Given the description of an element on the screen output the (x, y) to click on. 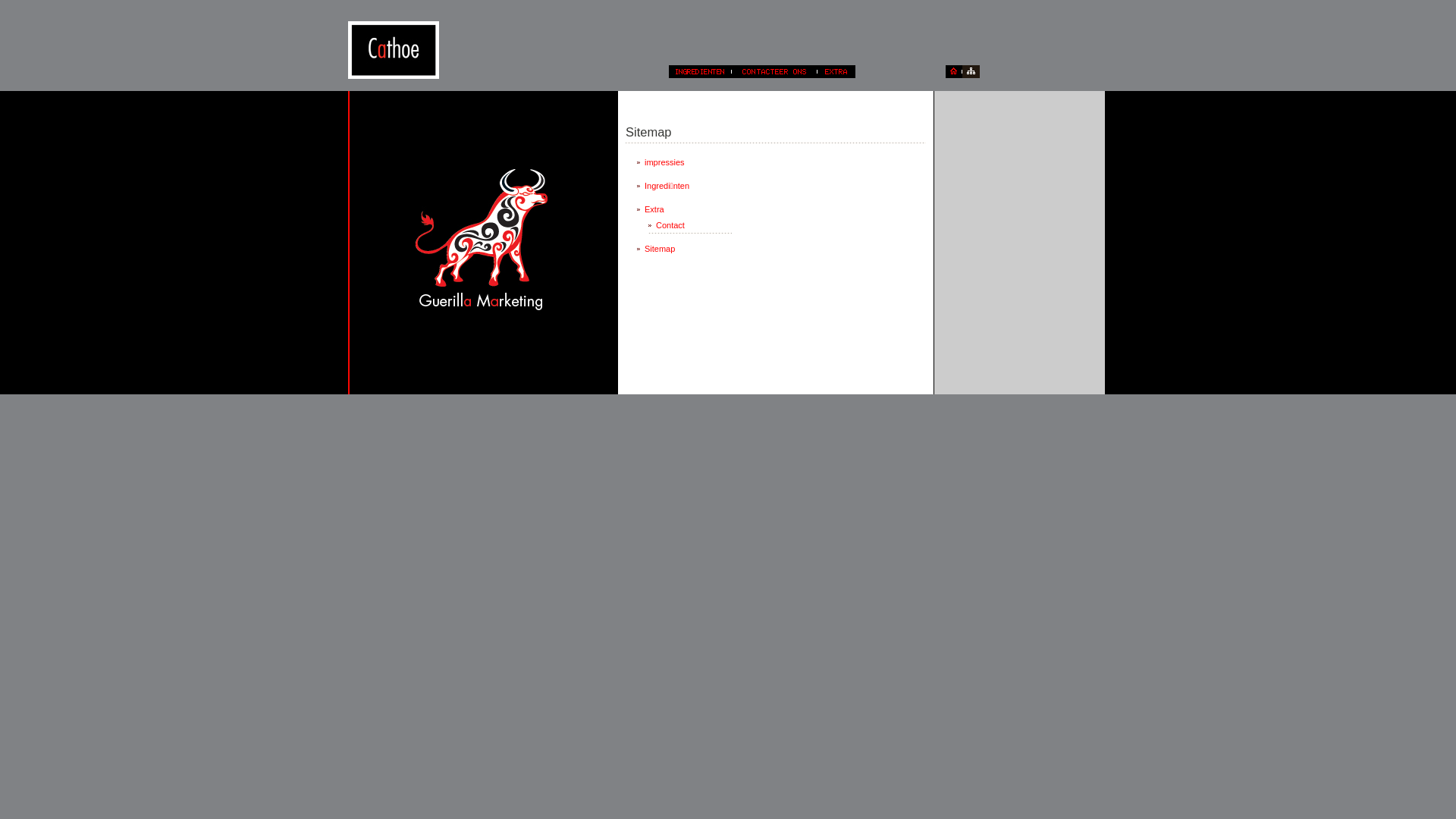
Extra Element type: text (678, 208)
Sitemap Element type: text (678, 248)
impressies Element type: text (678, 161)
Contact Element type: text (689, 224)
